Given the description of an element on the screen output the (x, y) to click on. 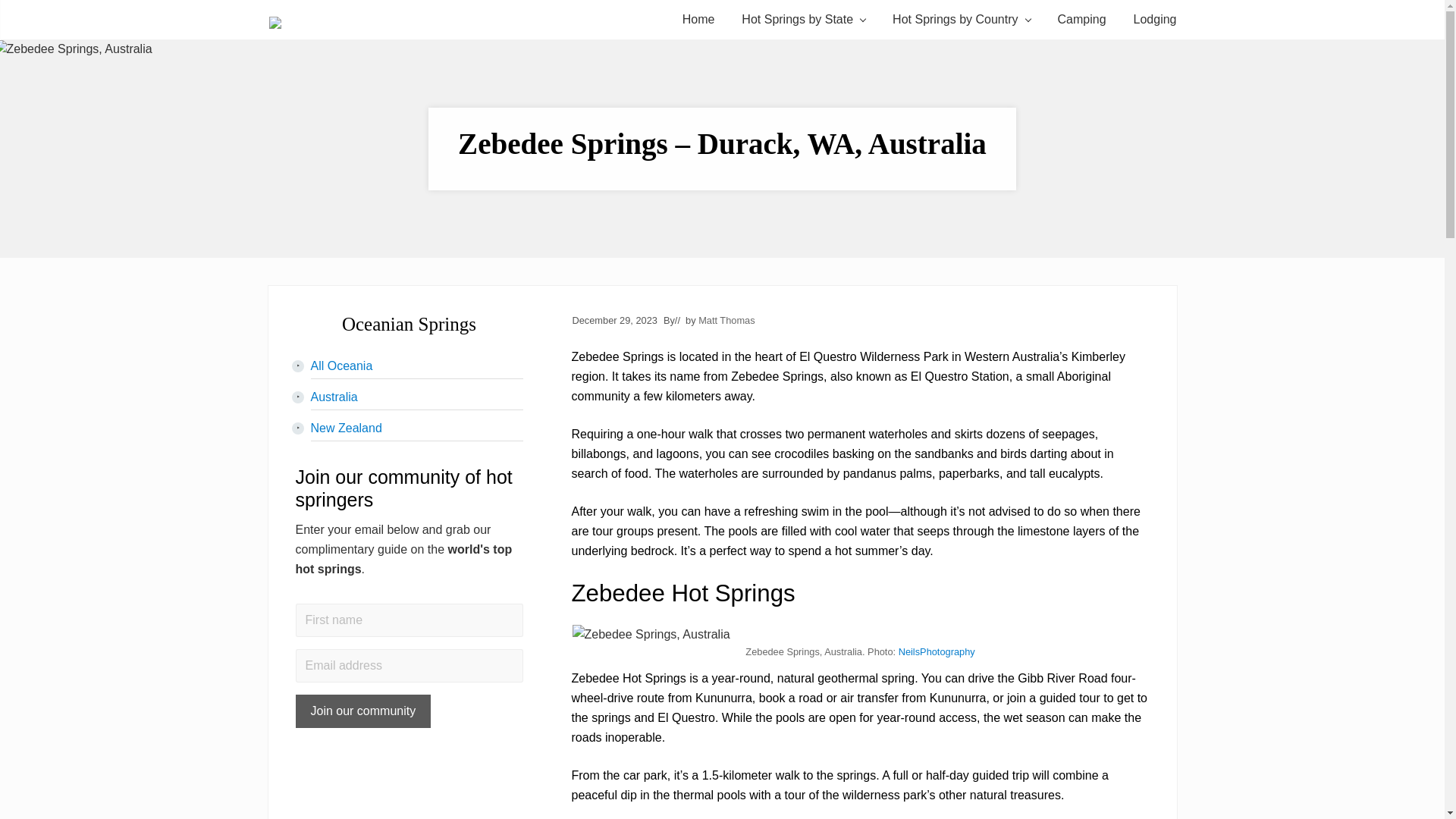
Home (697, 19)
Hot Springs by State (803, 19)
Hot Springs by Country (961, 19)
Join our community (362, 711)
